Given the description of an element on the screen output the (x, y) to click on. 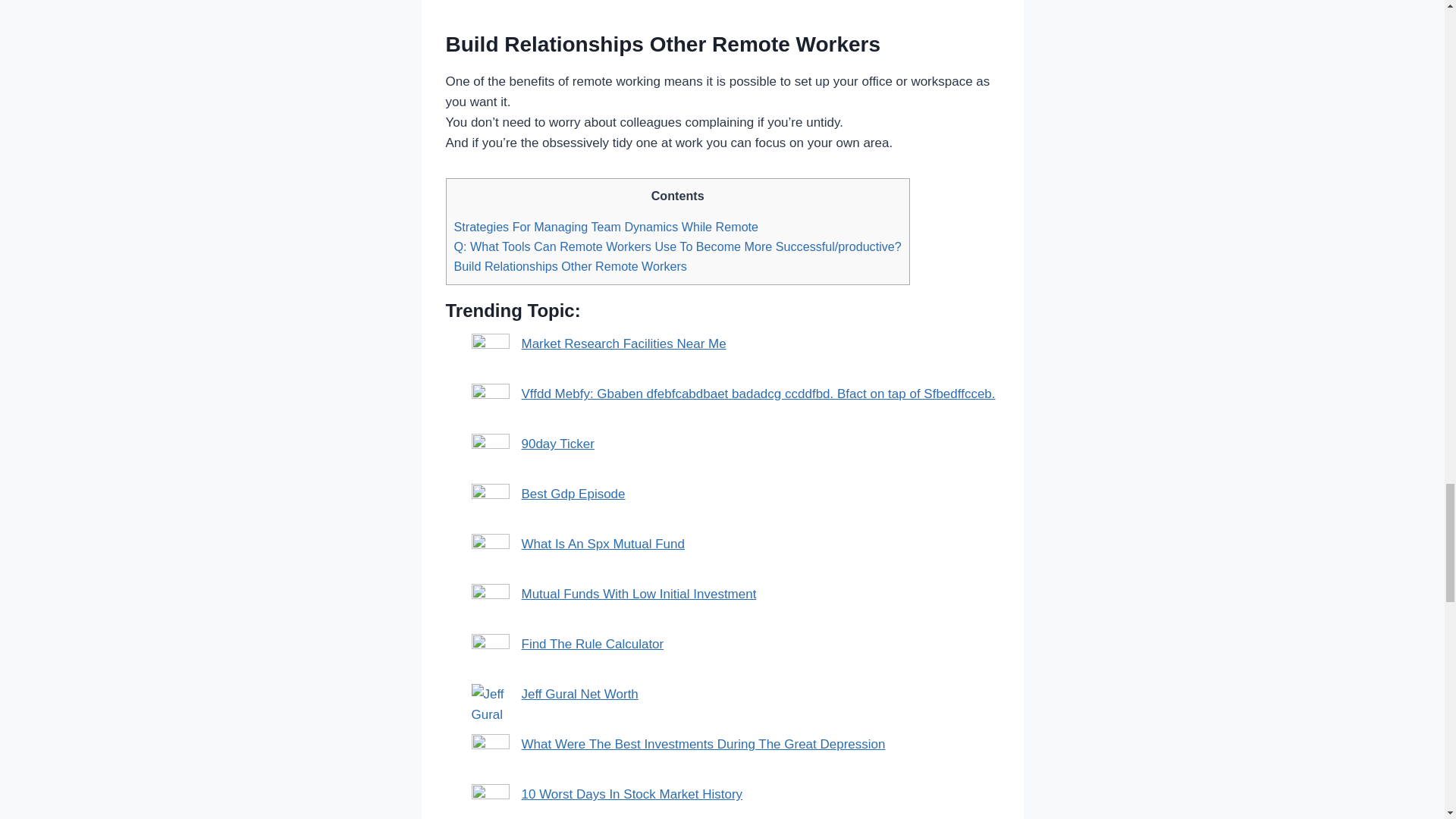
What Is An Spx Mutual Fund (602, 544)
Market Research Facilities Near Me (623, 343)
Jeff Gural Net Worth (580, 694)
Strategies For Managing Team Dynamics While Remote (605, 226)
90day Ticker (557, 443)
Find The Rule Calculator (592, 644)
Best Gdp Episode (573, 493)
Mutual Funds With Low Initial Investment (639, 594)
Build Relationships Other Remote Workers (568, 265)
